Given the description of an element on the screen output the (x, y) to click on. 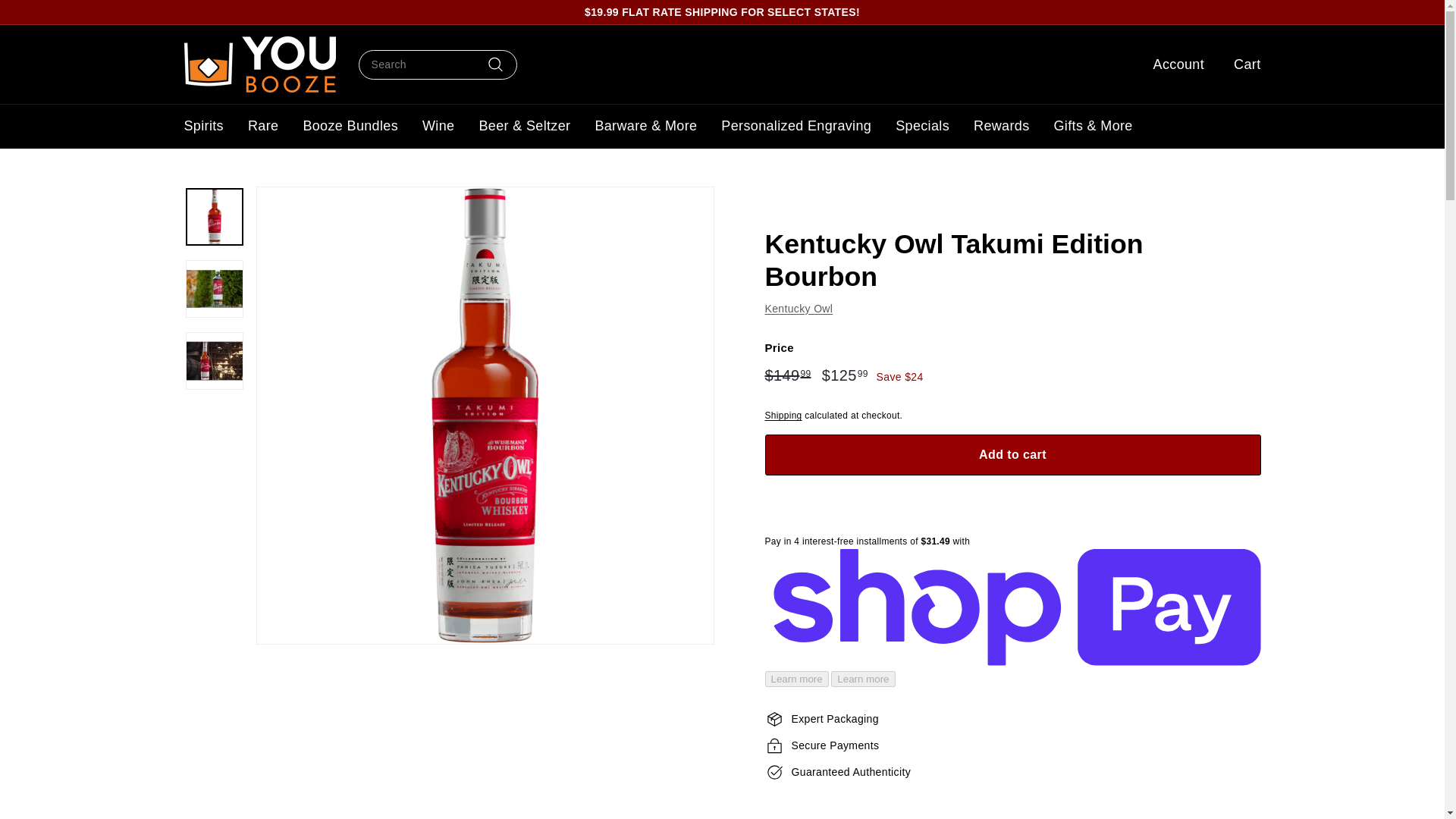
Kentucky Owl (798, 308)
Cart (1240, 64)
Account (1173, 64)
